Given the description of an element on the screen output the (x, y) to click on. 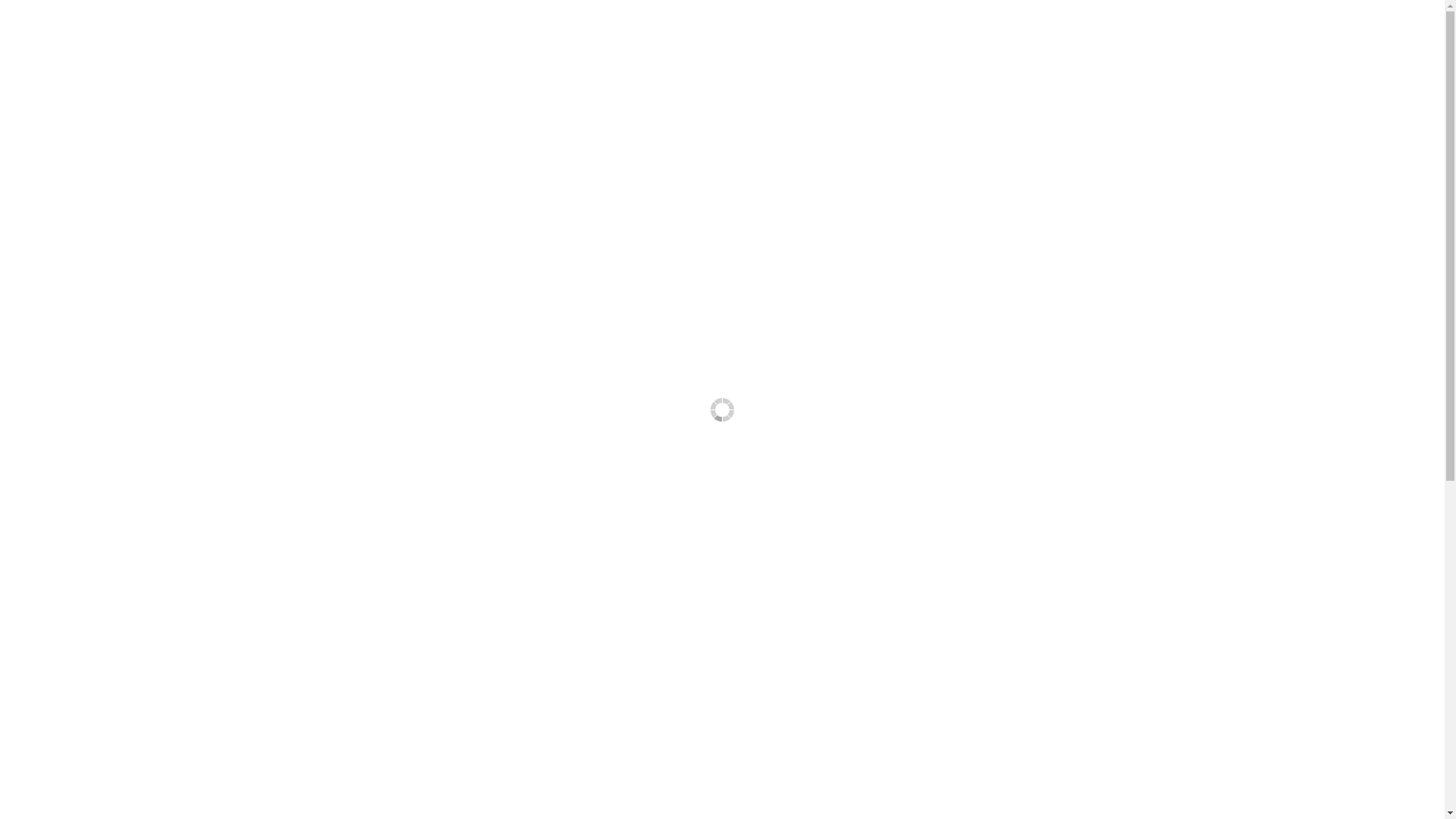
Furnishings Element type: text (573, 102)
Russell Lea, NSW 2046 Element type: text (1061, 617)
(02) 9712 2722 Element type: text (1041, 656)
Blinds Element type: text (894, 622)
Luxaflex Element type: text (894, 674)
Awnings Element type: text (767, 102)
Subscribe Element type: text (278, 649)
Curtains Element type: text (894, 596)
Furnishings Element type: text (894, 570)
Blinds Element type: text (708, 102)
Awnings Element type: text (894, 648)
Luxaflex Element type: text (833, 102)
104 Hampden Road Element type: text (1052, 597)
Homepage Element type: text (894, 545)
Contact Us Element type: text (907, 102)
Homepage Element type: text (492, 102)
Contact Us Element type: text (894, 699)
Curtains Element type: text (648, 102)
